Given the description of an element on the screen output the (x, y) to click on. 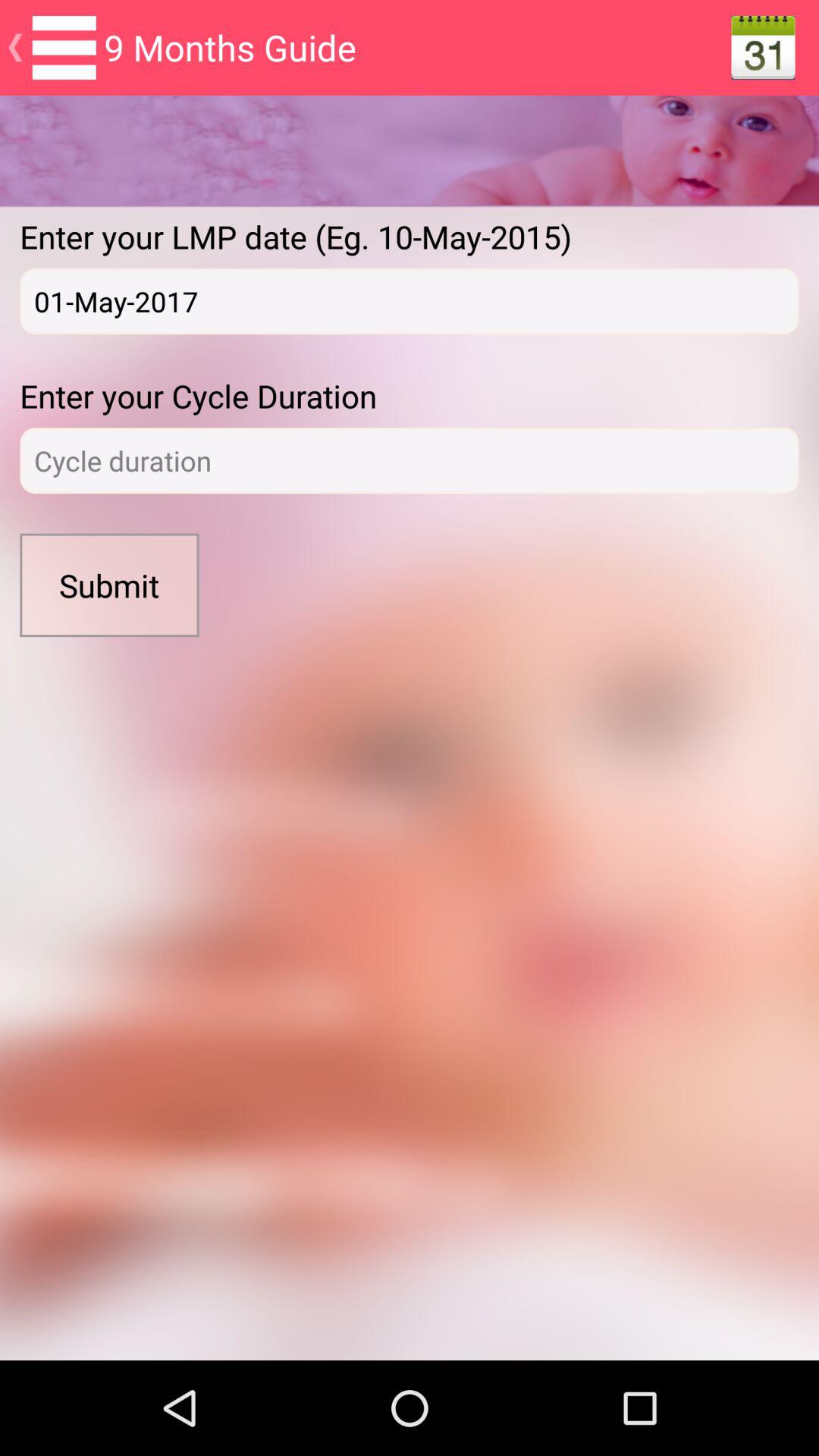
text box (409, 460)
